Given the description of an element on the screen output the (x, y) to click on. 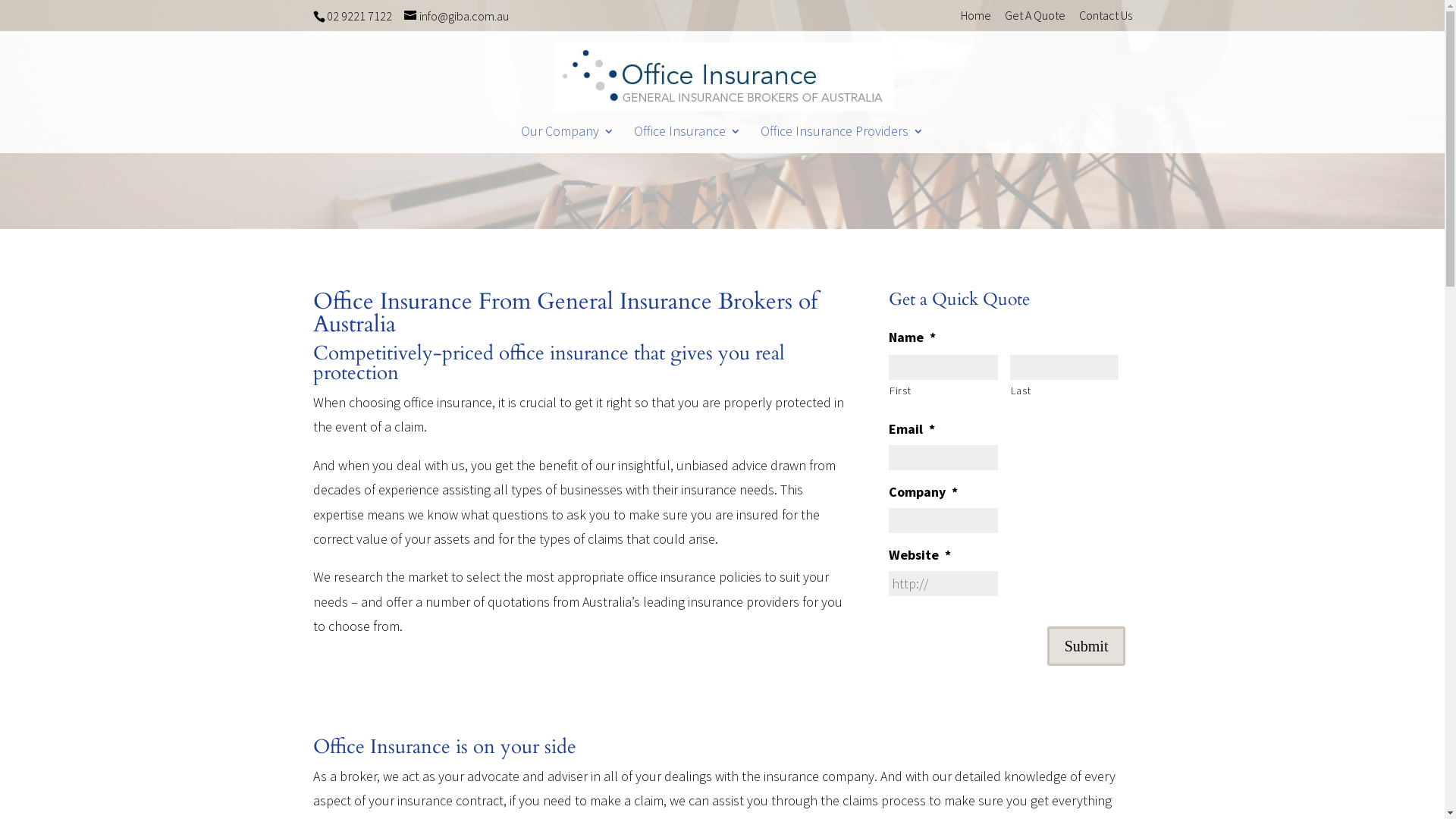
Get A Quote Element type: text (1034, 19)
Submit Element type: text (1086, 645)
Office Insurance Providers Element type: text (841, 139)
Our Company Element type: text (567, 139)
Contact Us Element type: text (1104, 19)
info@giba.com.au Element type: text (455, 15)
Office Insurance Element type: text (686, 139)
Home Element type: text (975, 19)
